Given the description of an element on the screen output the (x, y) to click on. 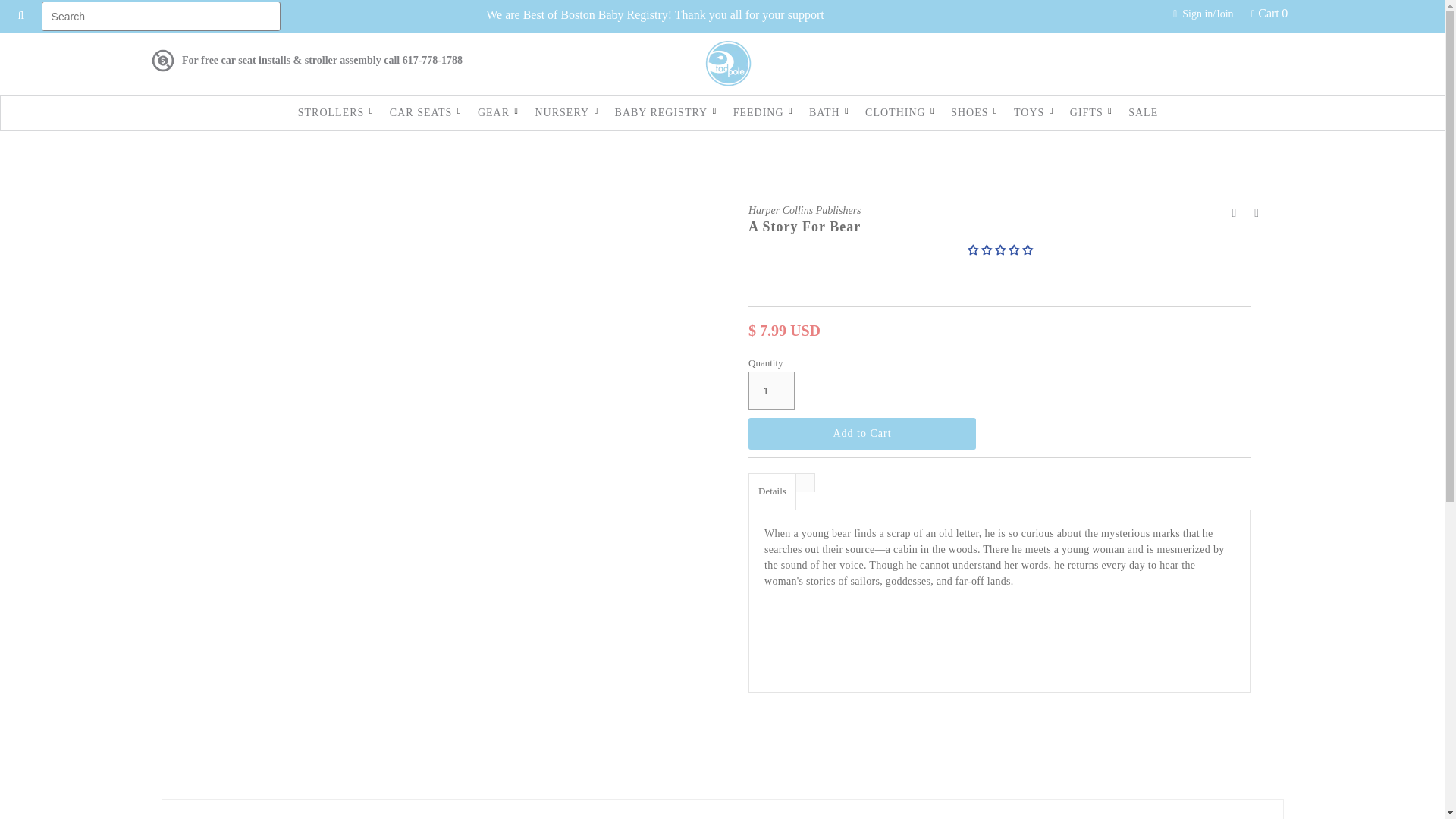
Add to Cart (861, 433)
Books (214, 35)
1 (771, 390)
